Given the description of an element on the screen output the (x, y) to click on. 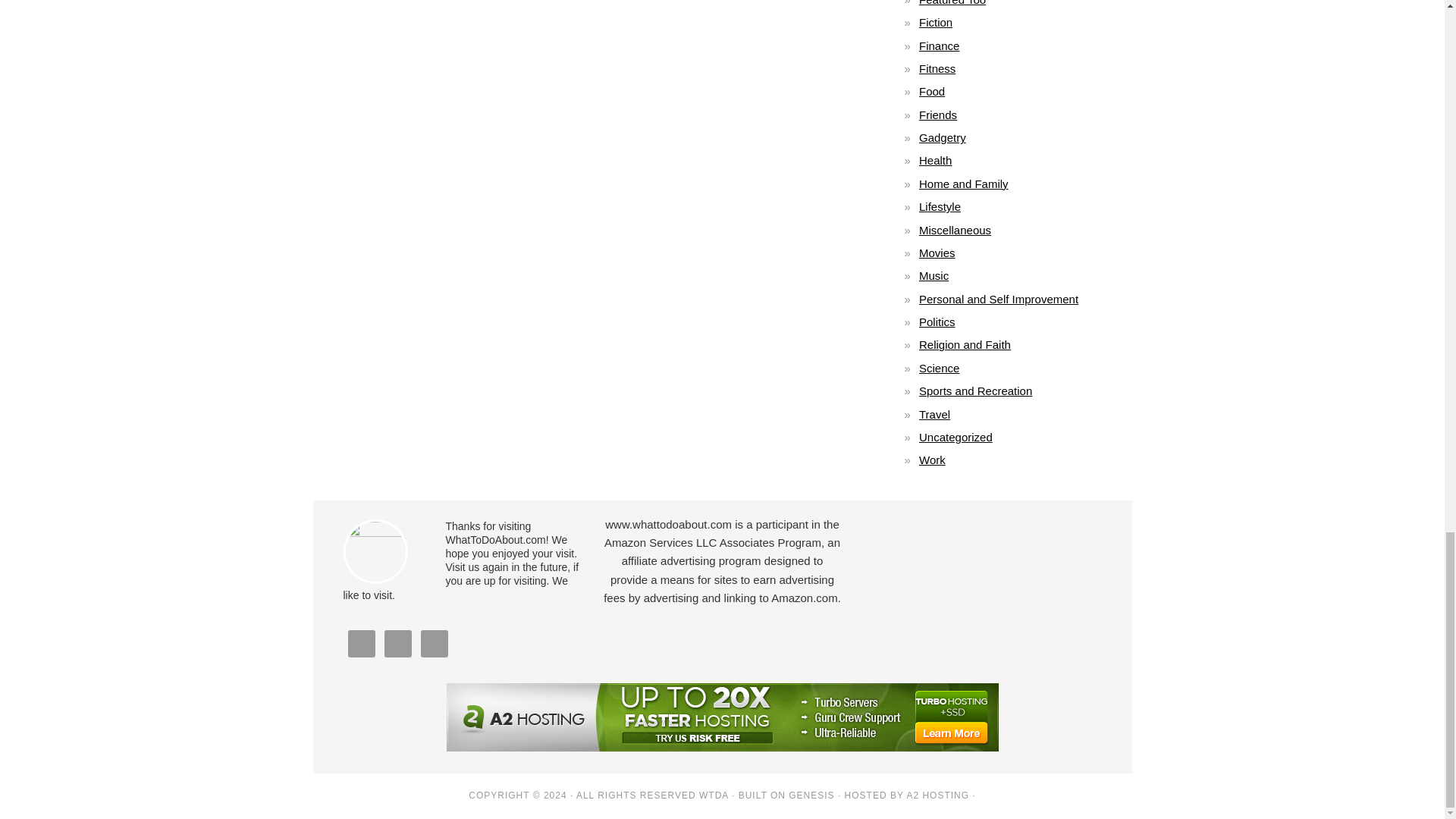
A2 Hosting (937, 795)
WTDA (713, 795)
